Given the description of an element on the screen output the (x, y) to click on. 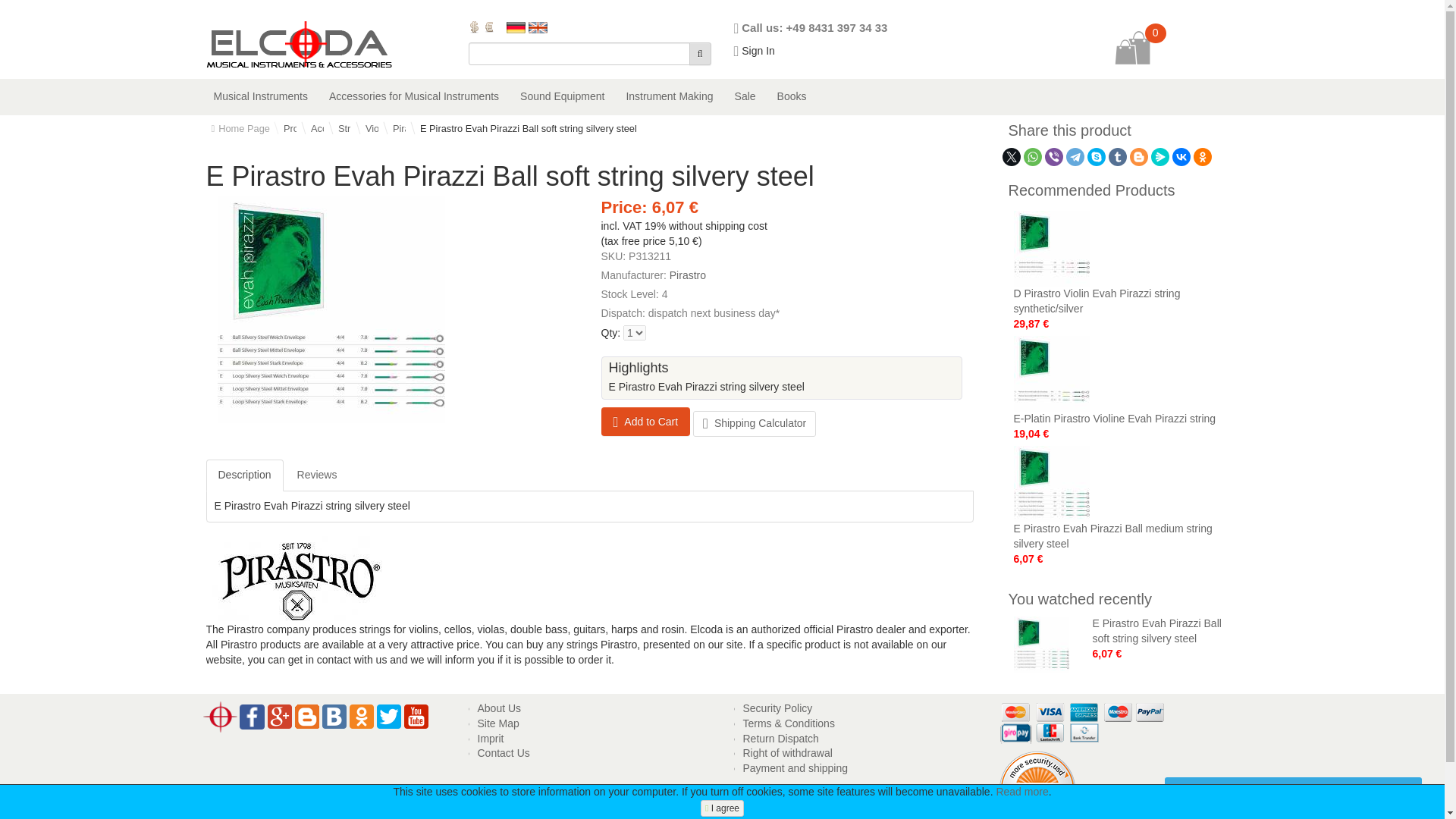
Viber (1053, 157)
Tumblr (1117, 157)
American Dollar (474, 27)
Blogger (1138, 157)
Twitter (1011, 157)
English (537, 27)
Skype (1096, 157)
Telegram (1074, 157)
German (515, 27)
WhatsApp (1032, 157)
